Given the description of an element on the screen output the (x, y) to click on. 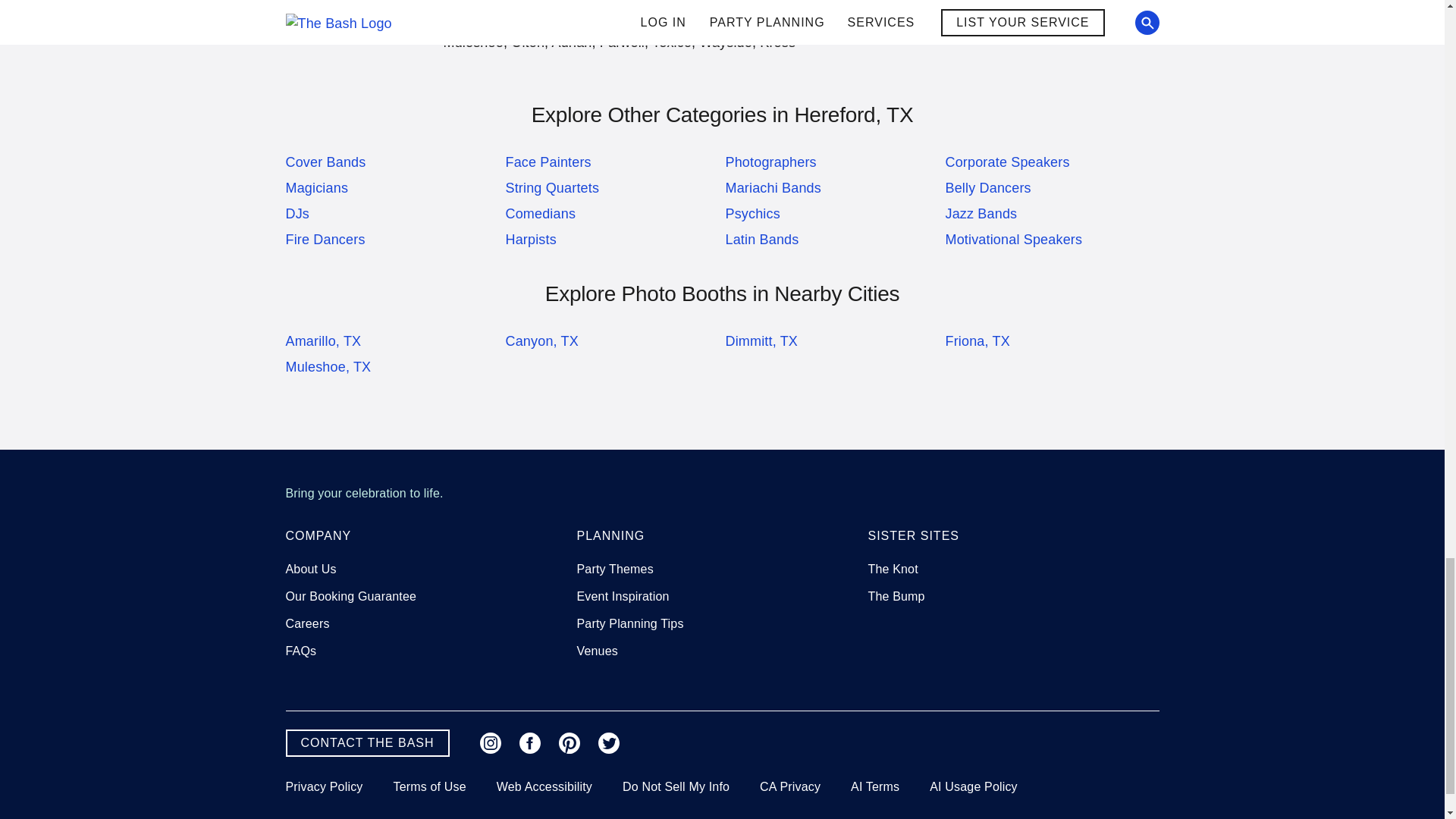
Frequently Asked Questions (300, 650)
